Given the description of an element on the screen output the (x, y) to click on. 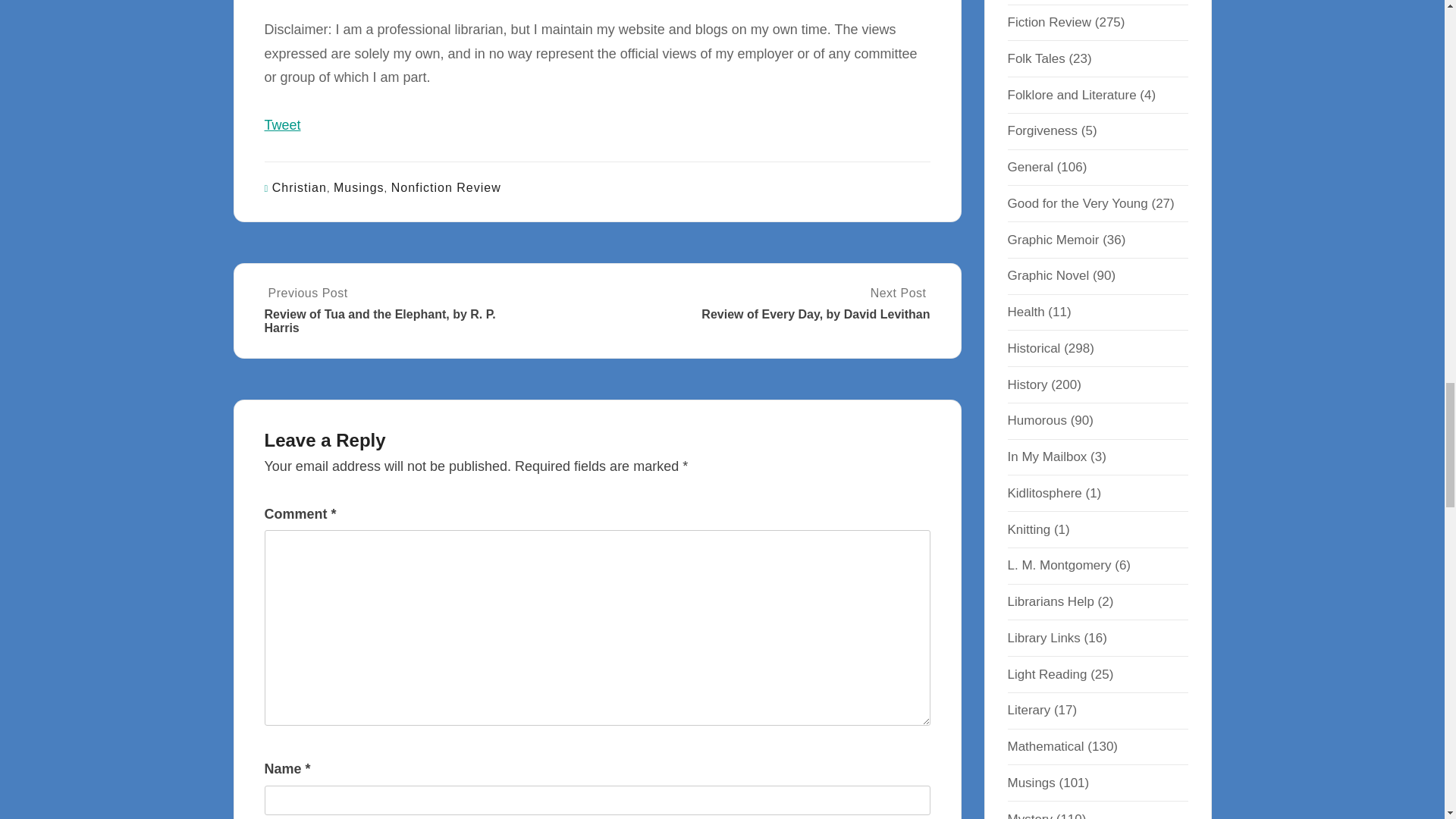
Tweet (281, 124)
Nonfiction Review (445, 187)
Christian (299, 187)
Musings (358, 187)
